Given the description of an element on the screen output the (x, y) to click on. 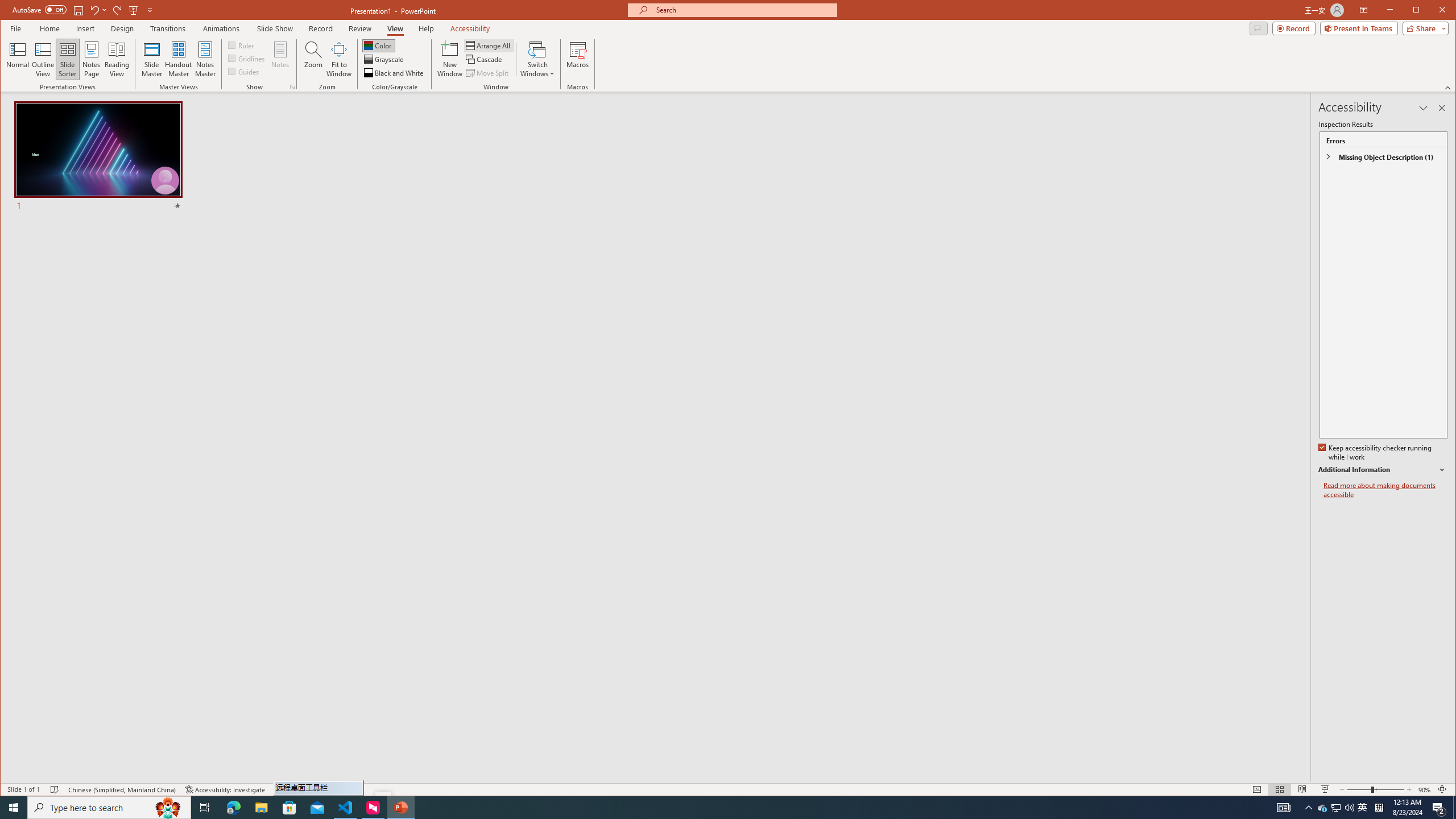
Outline View (42, 59)
Notes (279, 59)
Running applications (700, 807)
Read more about making documents accessible (1385, 489)
Arrange All (488, 45)
Handout Master (178, 59)
